Given the description of an element on the screen output the (x, y) to click on. 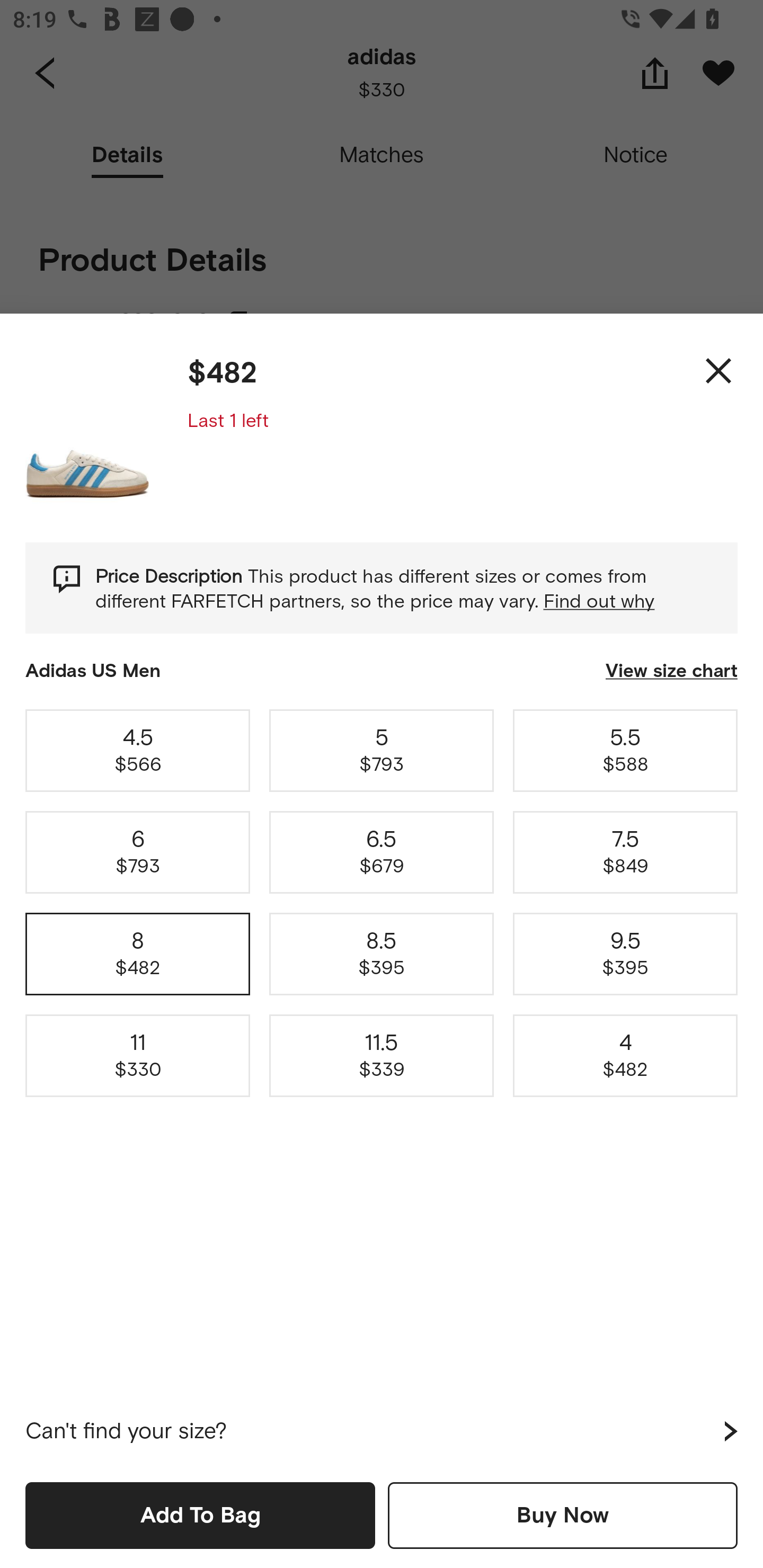
4.5 $566 (137, 749)
5 $793 (381, 749)
5.5 $588 (624, 749)
6 $793 (137, 851)
6.5 $679 (381, 851)
7.5 $849 (624, 851)
8 $482 (137, 953)
8.5 $395 (381, 953)
9.5 $395 (624, 953)
11 $330 (137, 1055)
11.5 $339 (381, 1055)
4 $482 (624, 1055)
Can't find your size? (381, 1431)
Add To Bag (200, 1515)
Buy Now (562, 1515)
